Given the description of an element on the screen output the (x, y) to click on. 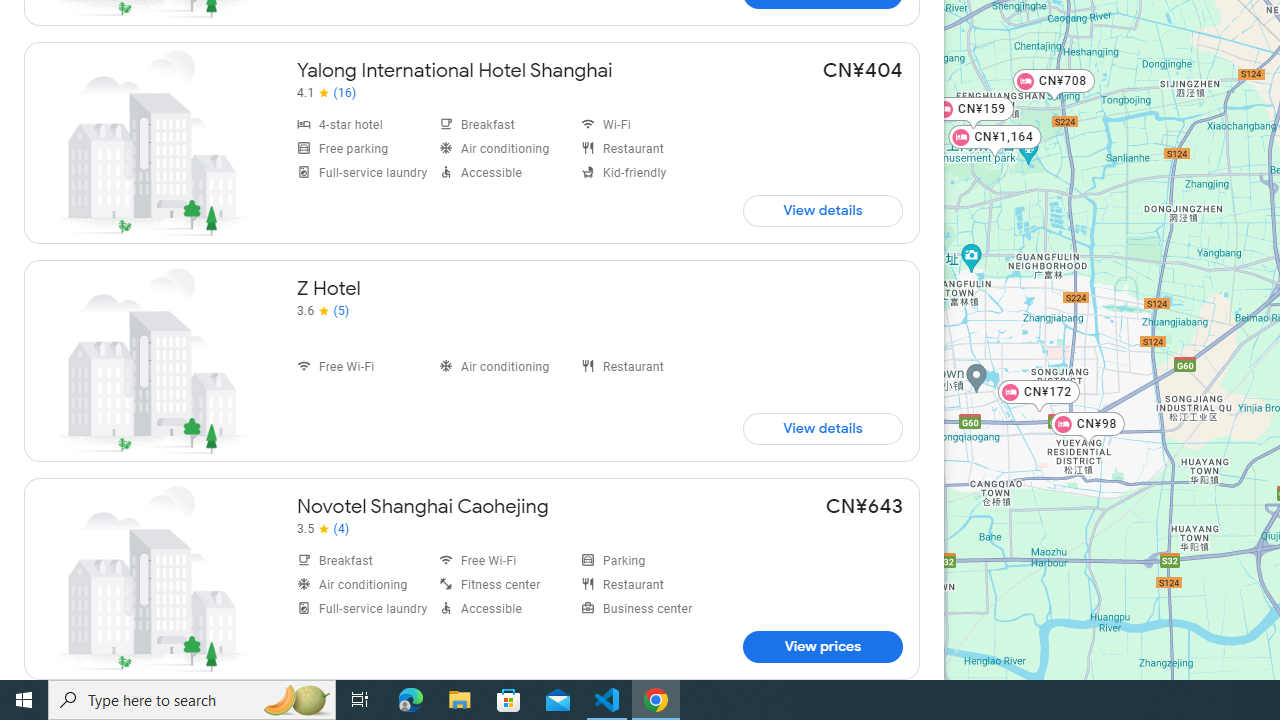
View prices for Z Hotel (822, 428)
View prices for Yalong International Hotel Shanghai (822, 210)
Novotel Shanghai Caohejing (472, 578)
Z Hotel (472, 360)
View prices for Novotel Shanghai Caohejing (822, 646)
